Given the description of an element on the screen output the (x, y) to click on. 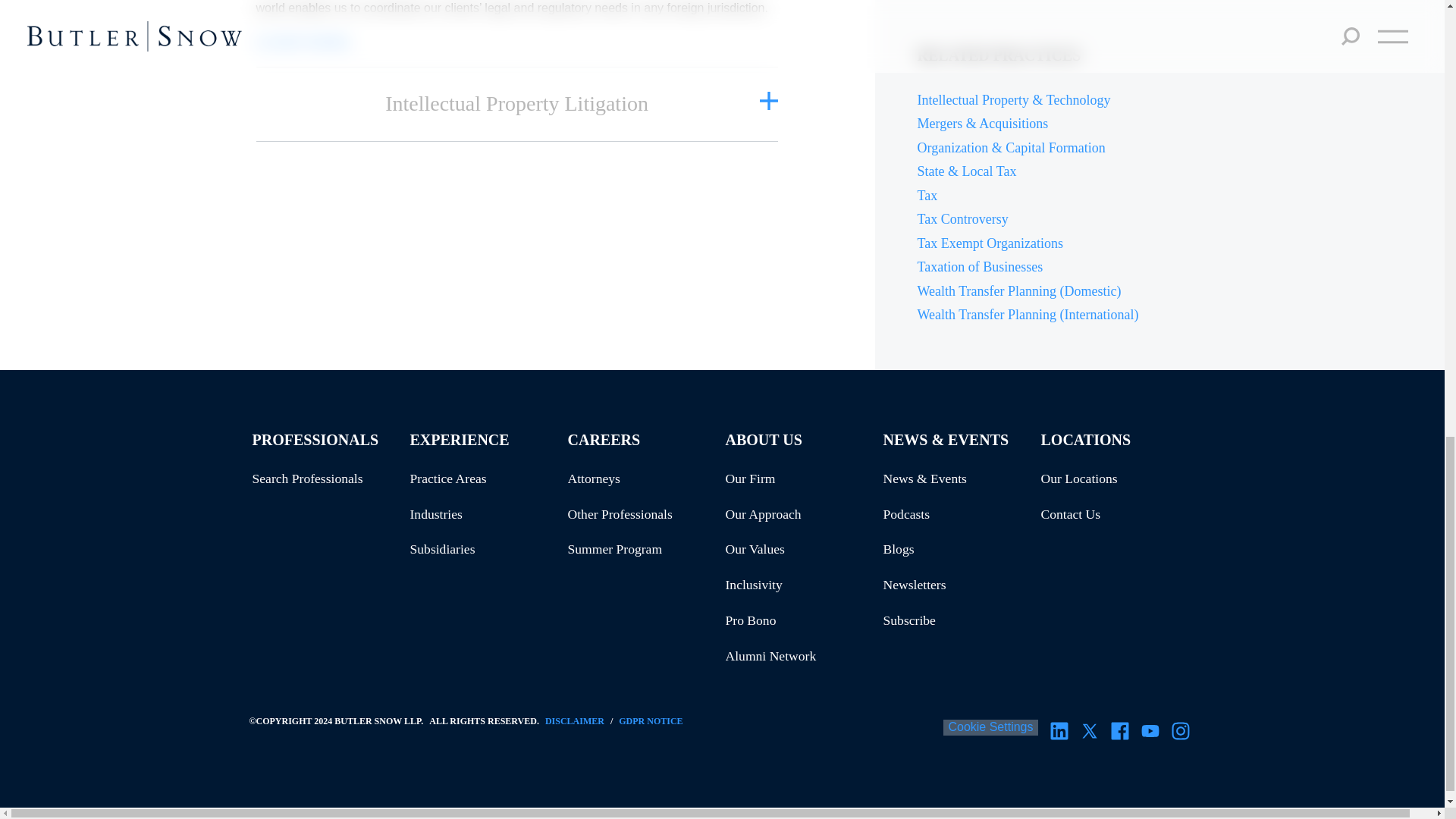
Taxation of Businesses (1171, 267)
Tax Exempt Organizations (1171, 243)
Tax Controversy (1171, 219)
LEARN MORE. (304, 42)
Tax (1171, 196)
Intellectual Property Litigation (517, 103)
